Given the description of an element on the screen output the (x, y) to click on. 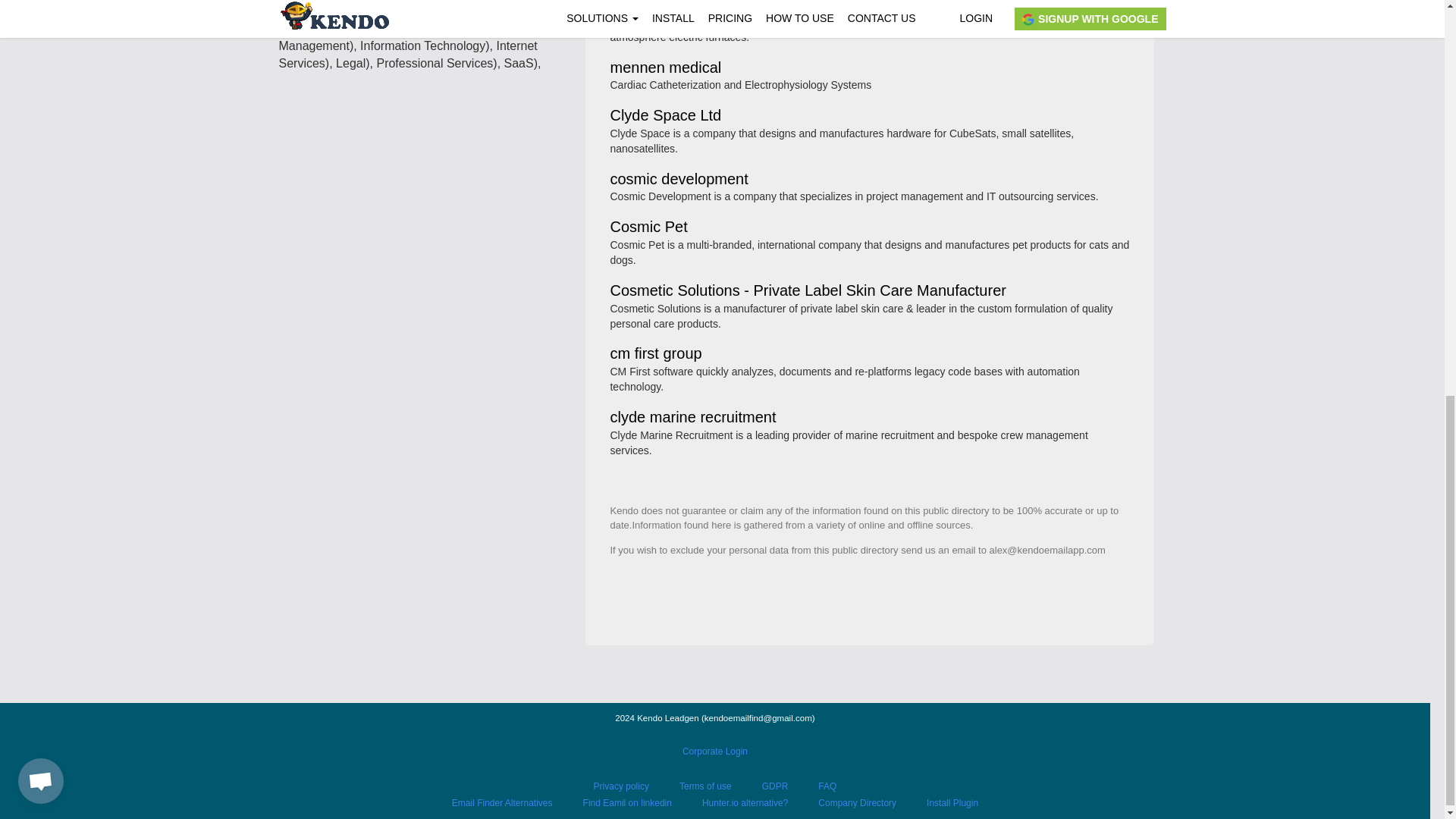
Clyde Space Ltd (665, 115)
cosmic development (679, 179)
mennen medical (665, 68)
cm furnaces inc (663, 5)
Cosmic Pet (648, 227)
